Given the description of an element on the screen output the (x, y) to click on. 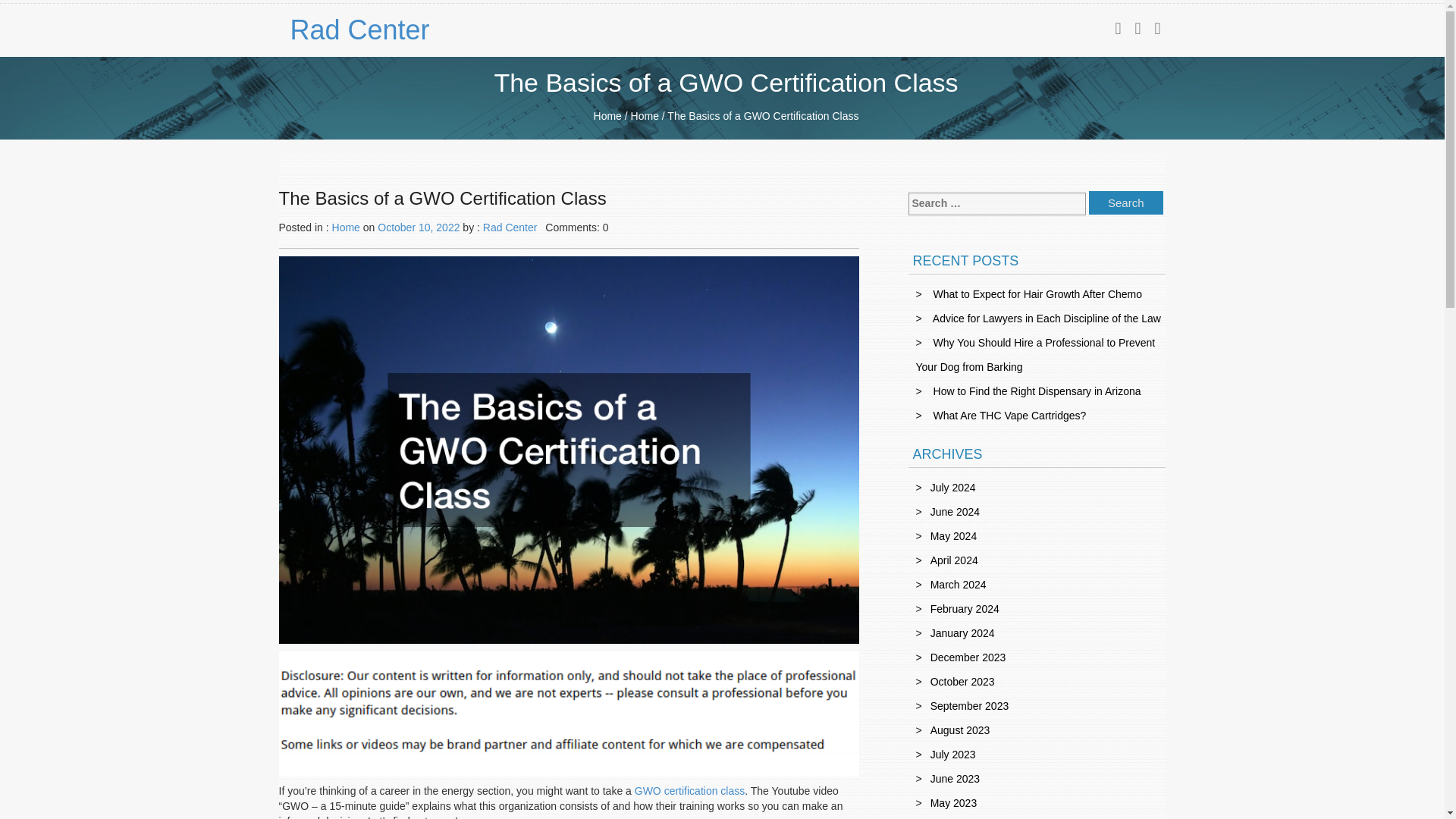
GWO certification class (689, 790)
August 2023 (960, 729)
July 2024 (952, 487)
September 2023 (969, 705)
Rad Center (389, 29)
Advice for Lawyers in Each Discipline of the Law (1046, 318)
Search (1126, 202)
How to Find the Right Dispensary in Arizona (1037, 390)
June 2024 (954, 511)
January 2024 (962, 633)
October 2023 (962, 681)
Home (607, 115)
April 2024 (954, 560)
What Are THC Vape Cartridges? (1009, 415)
